Given the description of an element on the screen output the (x, y) to click on. 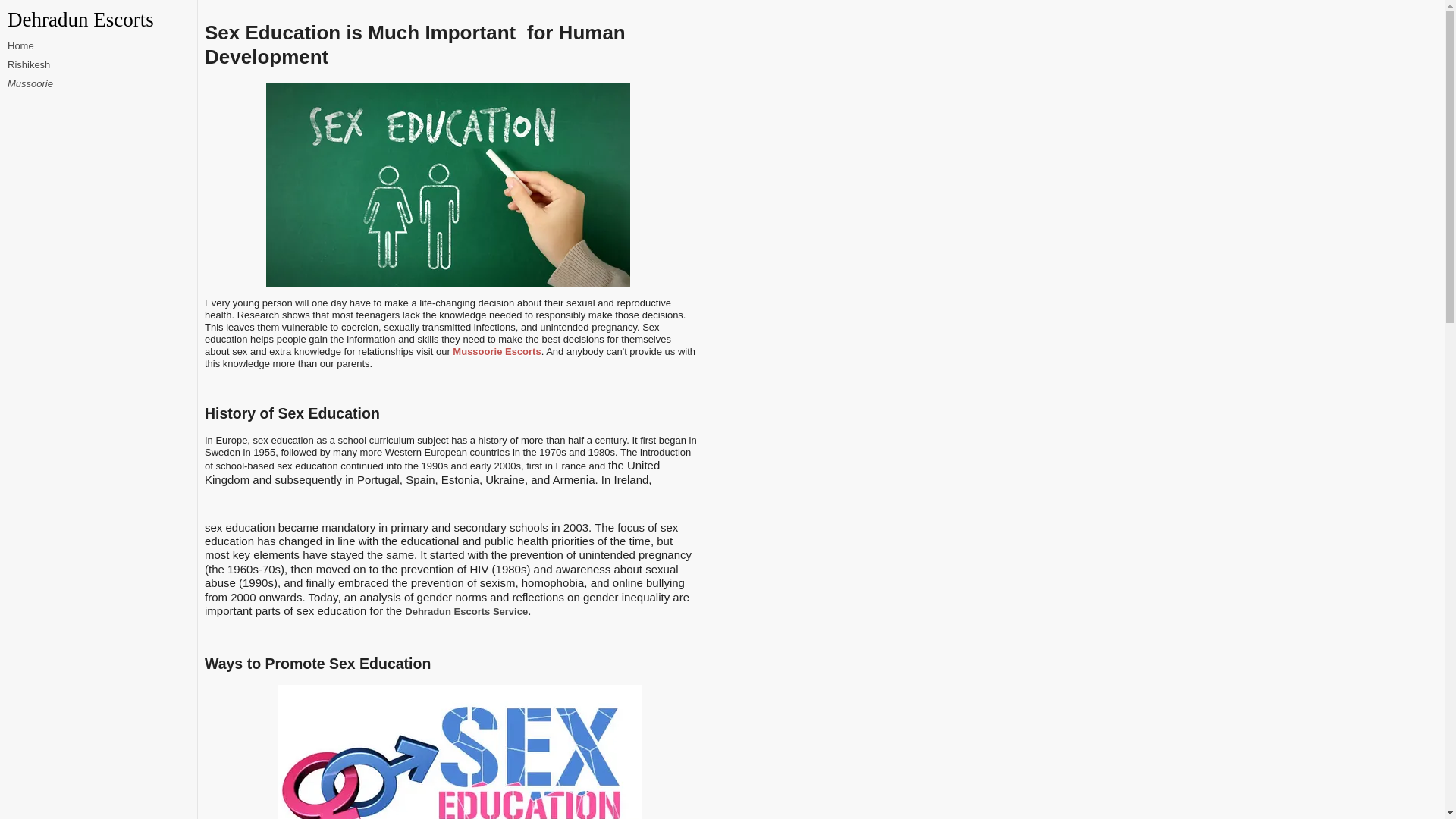
Mussoorie (29, 83)
Mussoorie Escorts (496, 351)
Dehradun Escorts (101, 19)
Rishikesh (28, 64)
Home (20, 45)
home (101, 19)
Dehradun Escorts Service (465, 611)
